Given the description of an element on the screen output the (x, y) to click on. 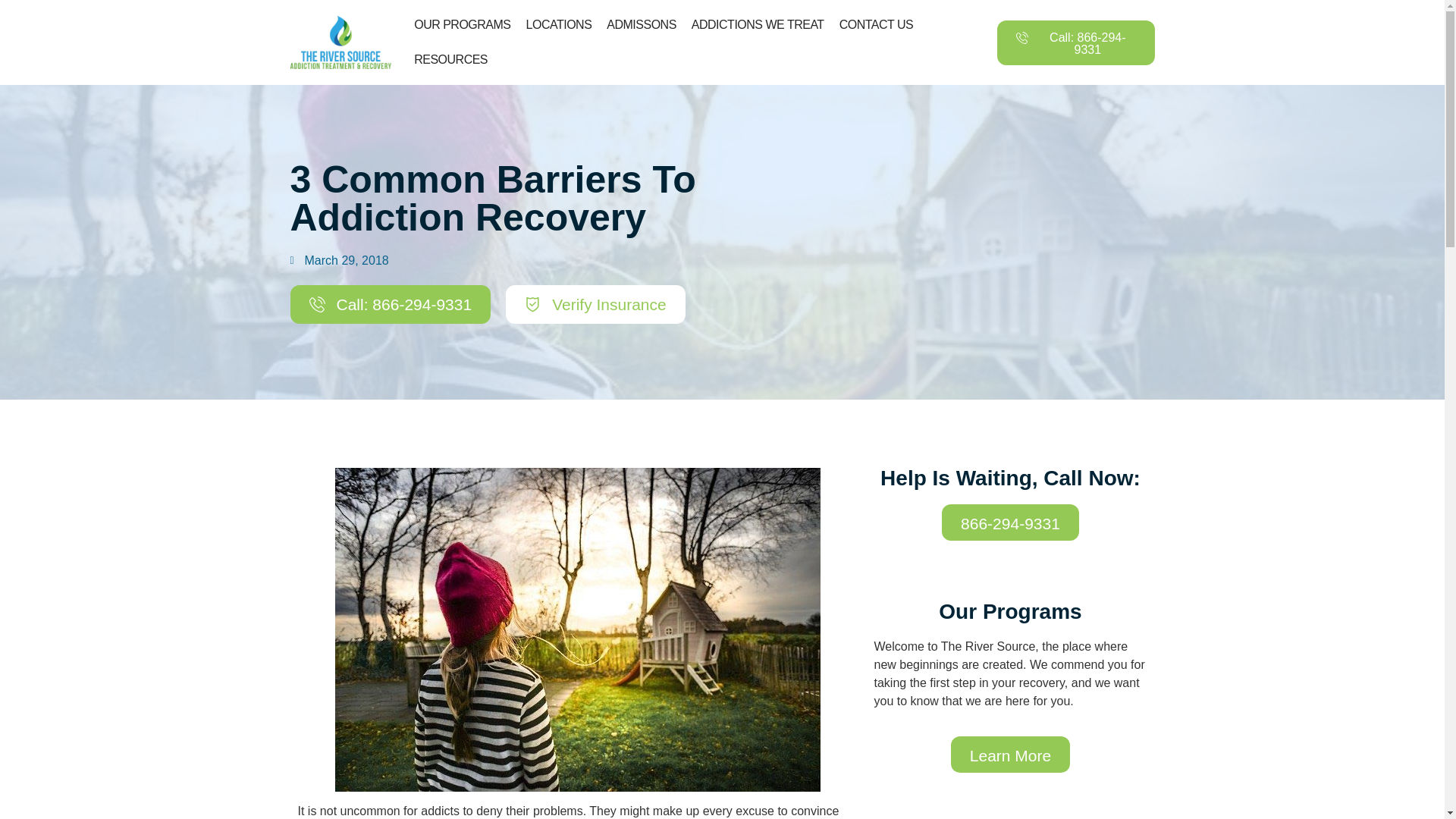
RESOURCES (450, 59)
ADMISSONS (641, 24)
CONTACT US (876, 24)
OUR PROGRAMS (462, 24)
ADDICTIONS WE TREAT (757, 24)
LOCATIONS (558, 24)
